Given the description of an element on the screen output the (x, y) to click on. 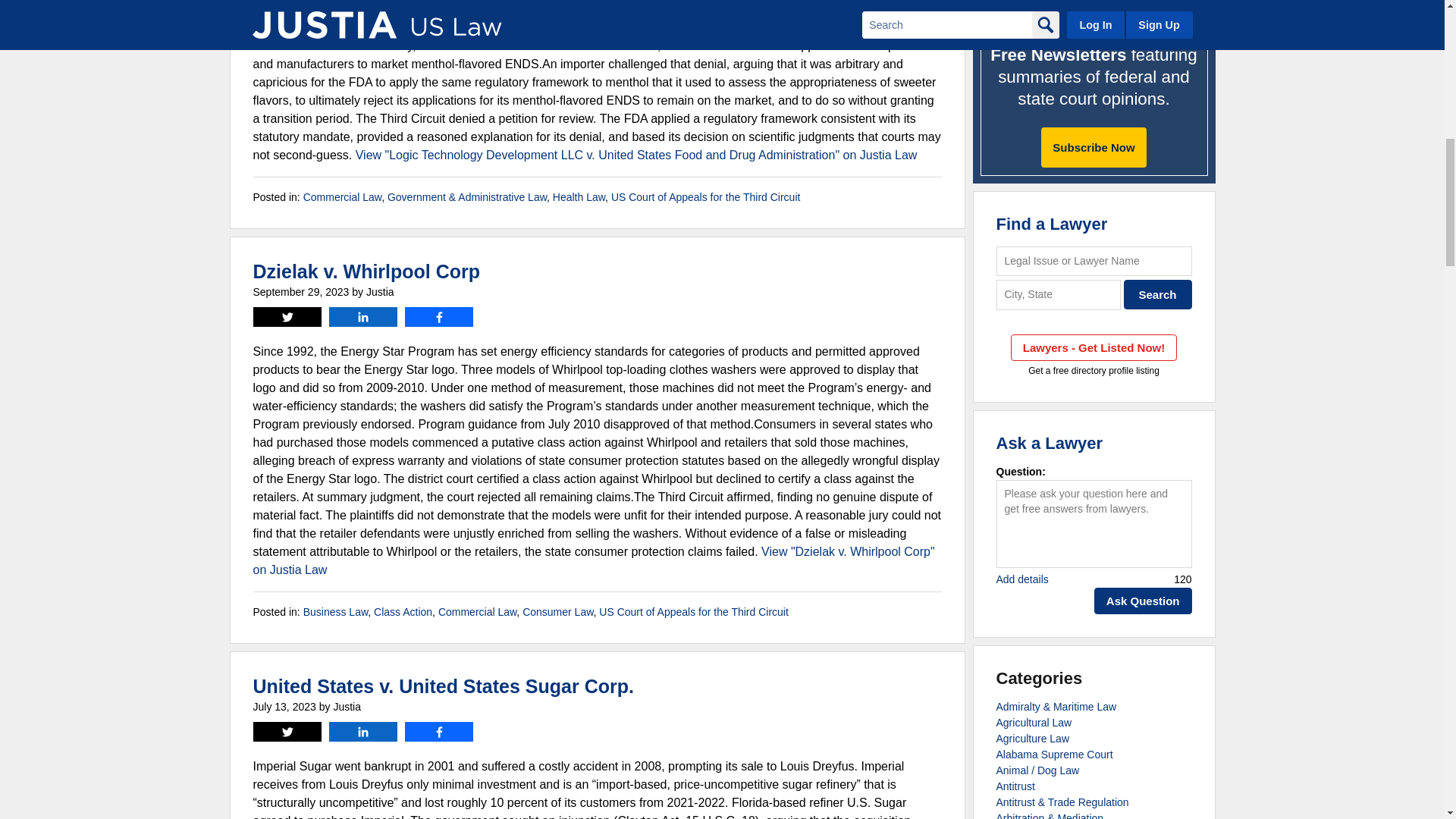
View all posts in Commercial Law (341, 196)
View all posts in Consumer Law (557, 612)
Permalink to United States v. United States Sugar Corp. (443, 685)
View all posts in Class Action (403, 612)
View all posts in US Court of Appeals for the Third Circuit (693, 612)
Search (1158, 294)
View all posts in Commercial Law (477, 612)
Search (1158, 294)
View all posts in US Court of Appeals for the Third Circuit (705, 196)
View all posts in Health Law (579, 196)
